Given the description of an element on the screen output the (x, y) to click on. 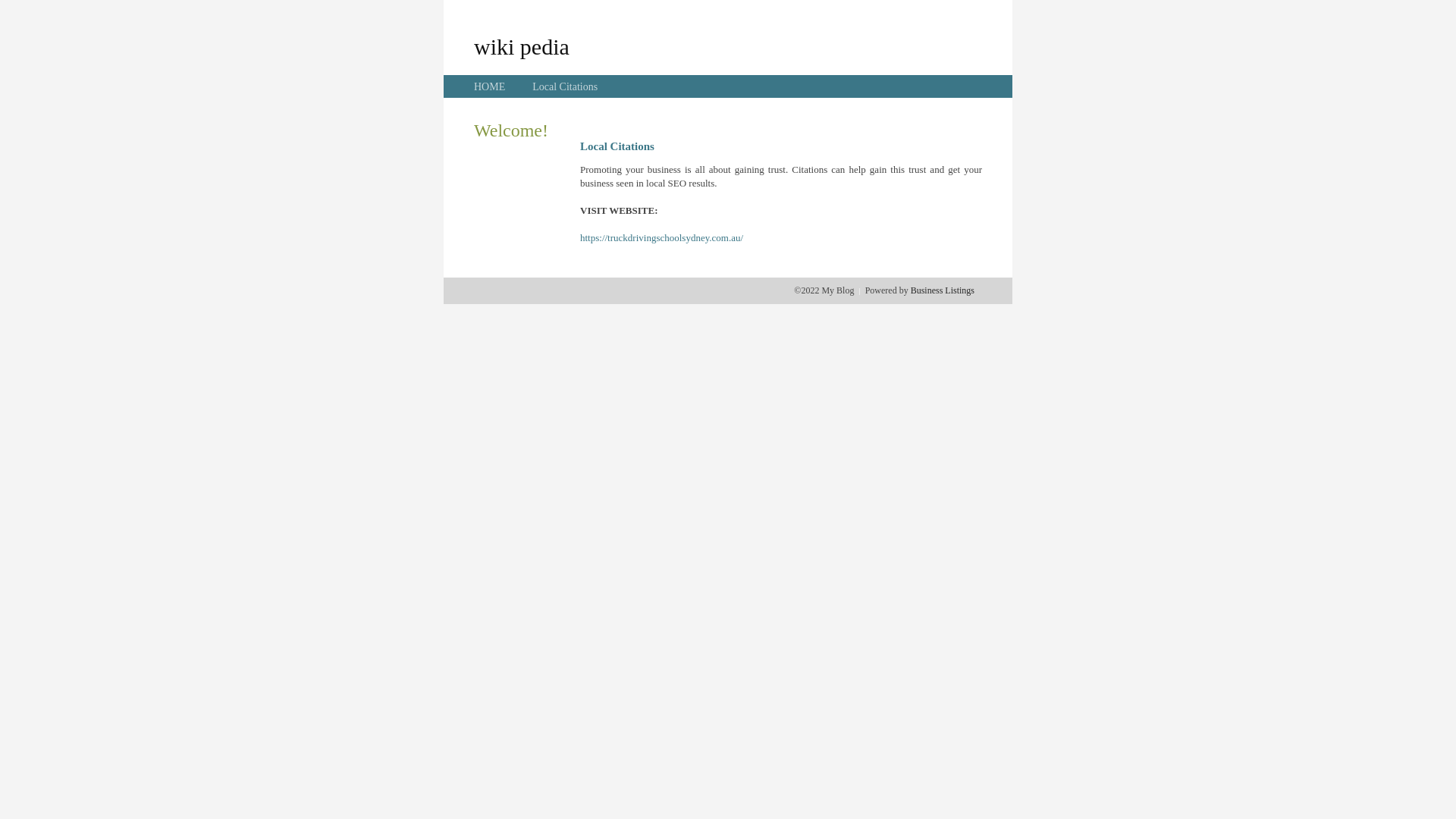
Business Listings Element type: text (942, 290)
HOME Element type: text (489, 86)
Local Citations Element type: text (564, 86)
https://truckdrivingschoolsydney.com.au/ Element type: text (661, 237)
wiki pedia Element type: text (521, 46)
